Given the description of an element on the screen output the (x, y) to click on. 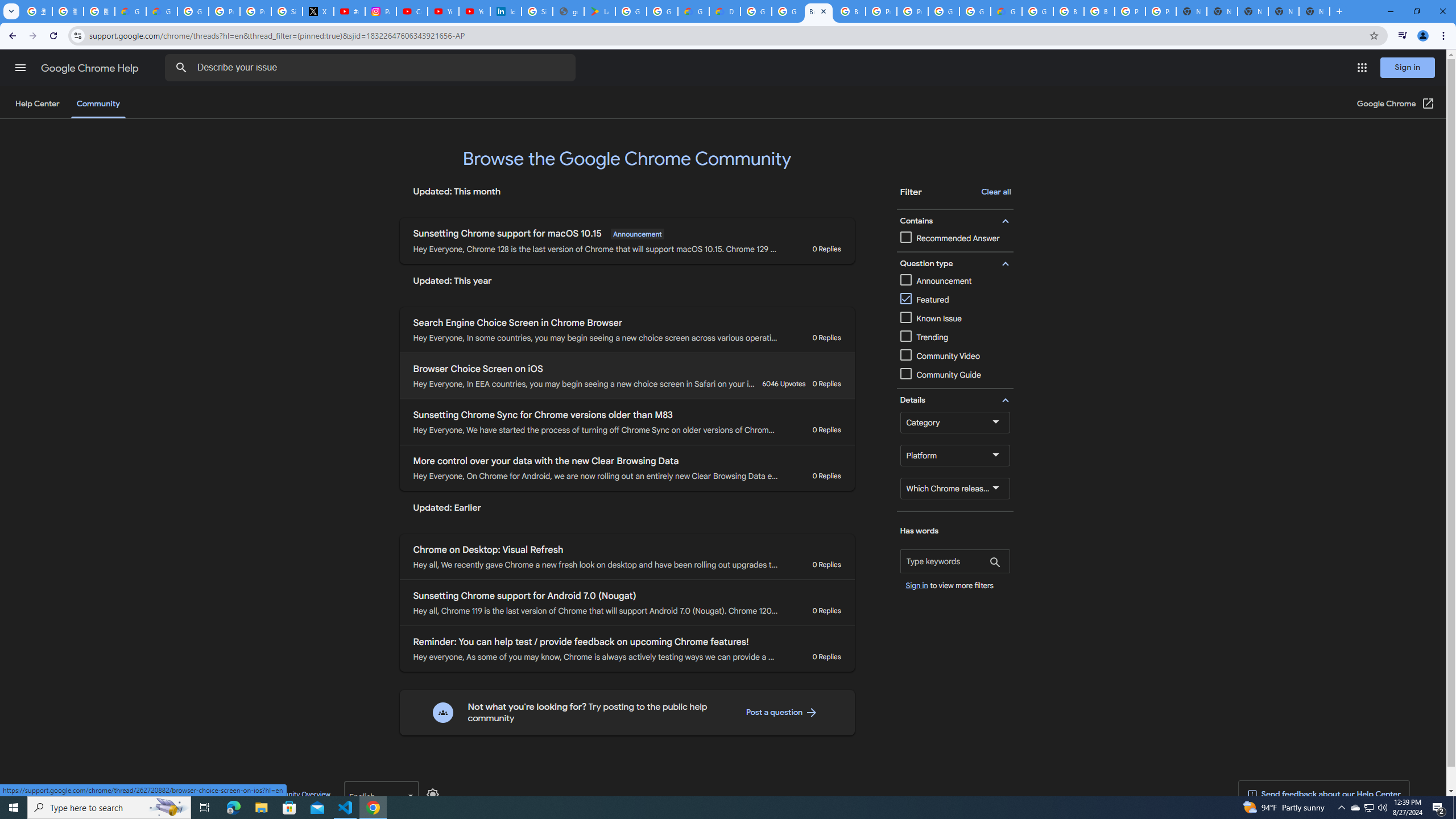
Browse Chrome as a guest - Computer - Google Chrome Help (1098, 11)
Recommended Answer (949, 238)
Terms of Service (170, 794)
Community Guide (954, 374)
Describe your issue (371, 67)
Browse Chrome as a guest - Computer - Google Chrome Help (849, 11)
Community Overview (297, 794)
Platform (954, 455)
 Send feedback about our Help Center (1323, 794)
YouTube Culture & Trends - YouTube Top 10, 2021 (474, 11)
Which Chrome release channel are you using? (954, 488)
